Given the description of an element on the screen output the (x, y) to click on. 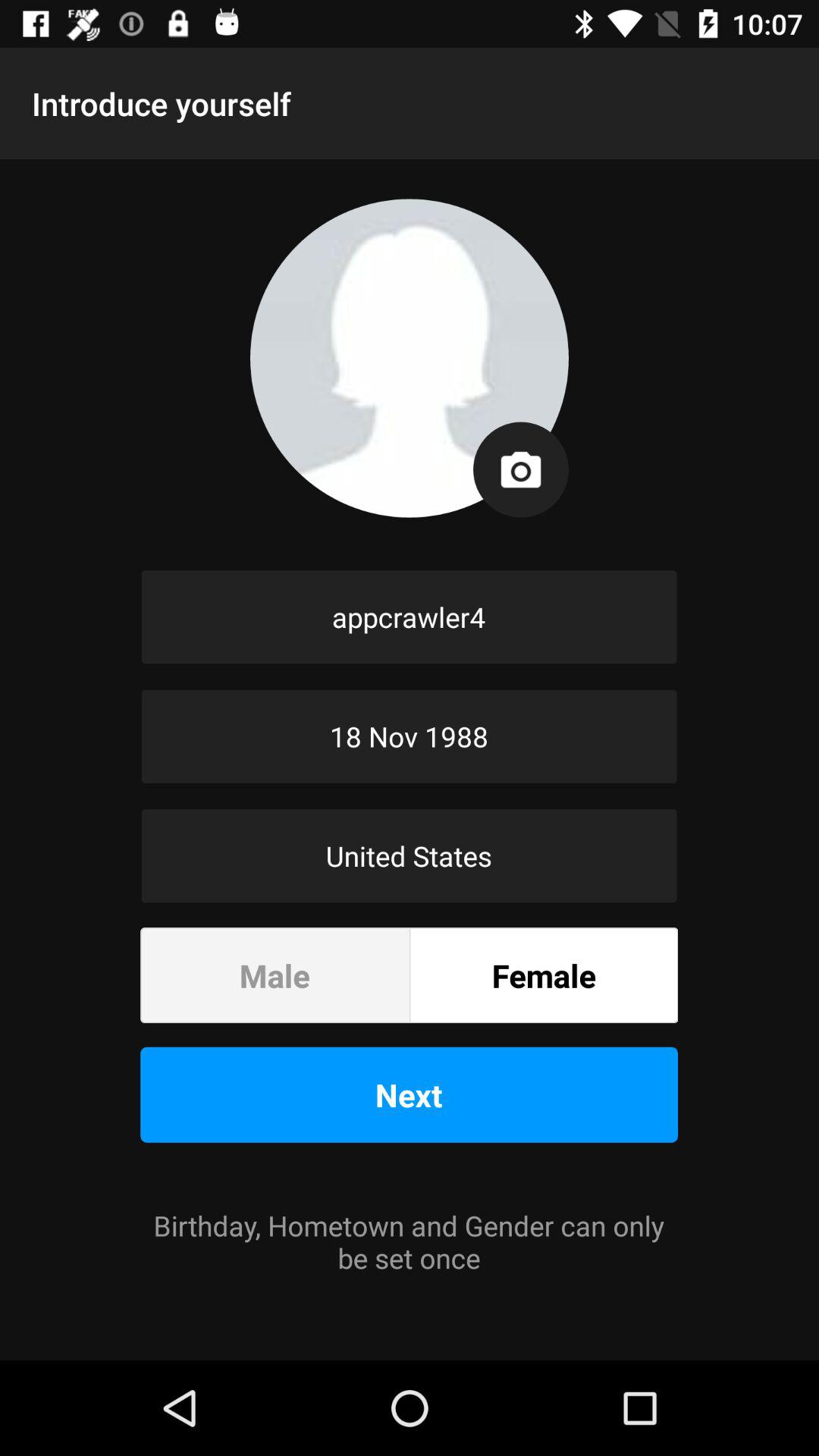
launch the 18 nov 1988 item (408, 736)
